Given the description of an element on the screen output the (x, y) to click on. 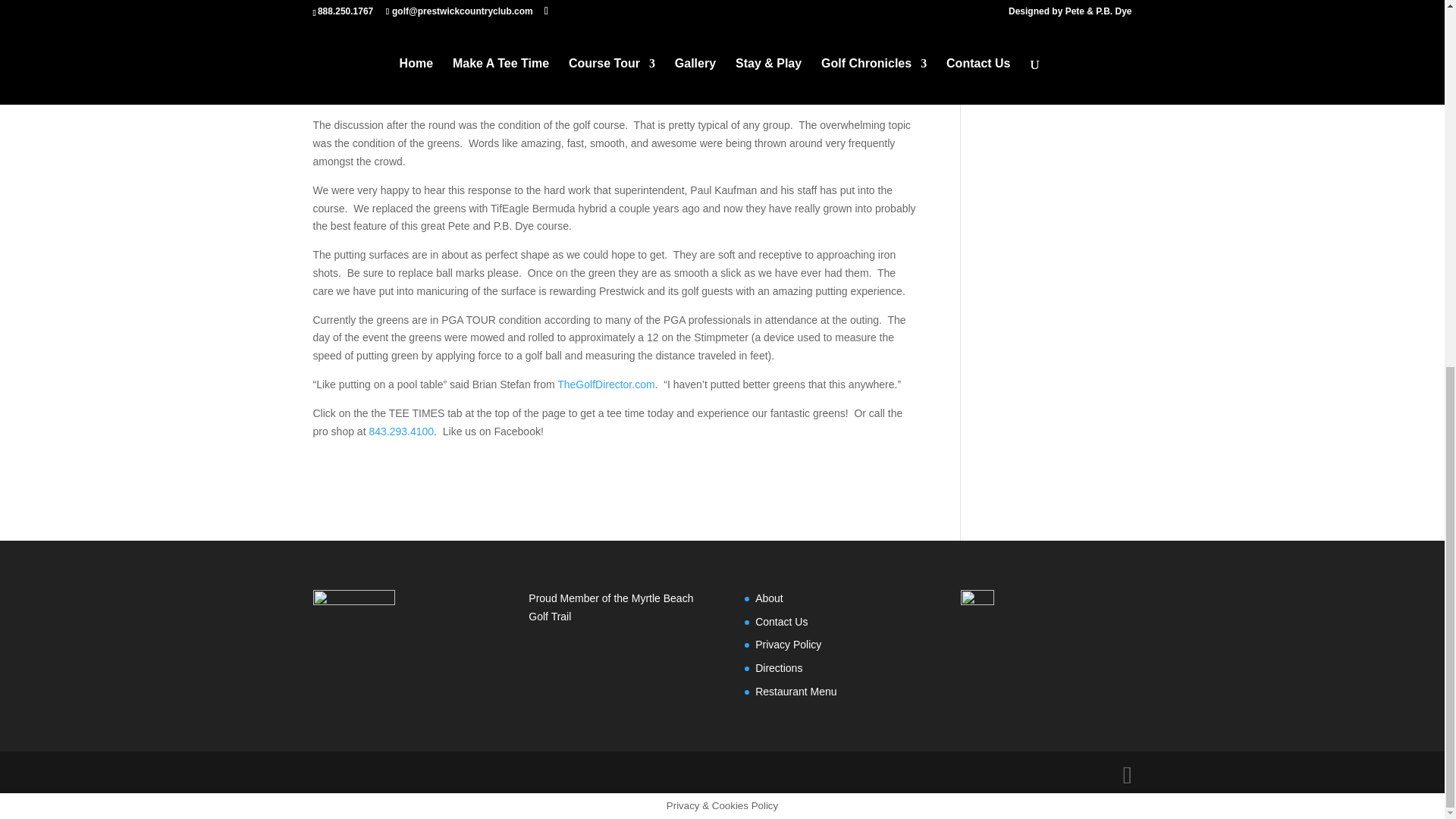
843.293.4100 (400, 431)
About (769, 598)
TheGolfDirector.com (605, 384)
Contact Us (781, 621)
Prestwick Named Among Top SC Courses (1053, 40)
Directions (778, 667)
Restaurant Menu (795, 691)
Privacy Policy (788, 644)
